Given the description of an element on the screen output the (x, y) to click on. 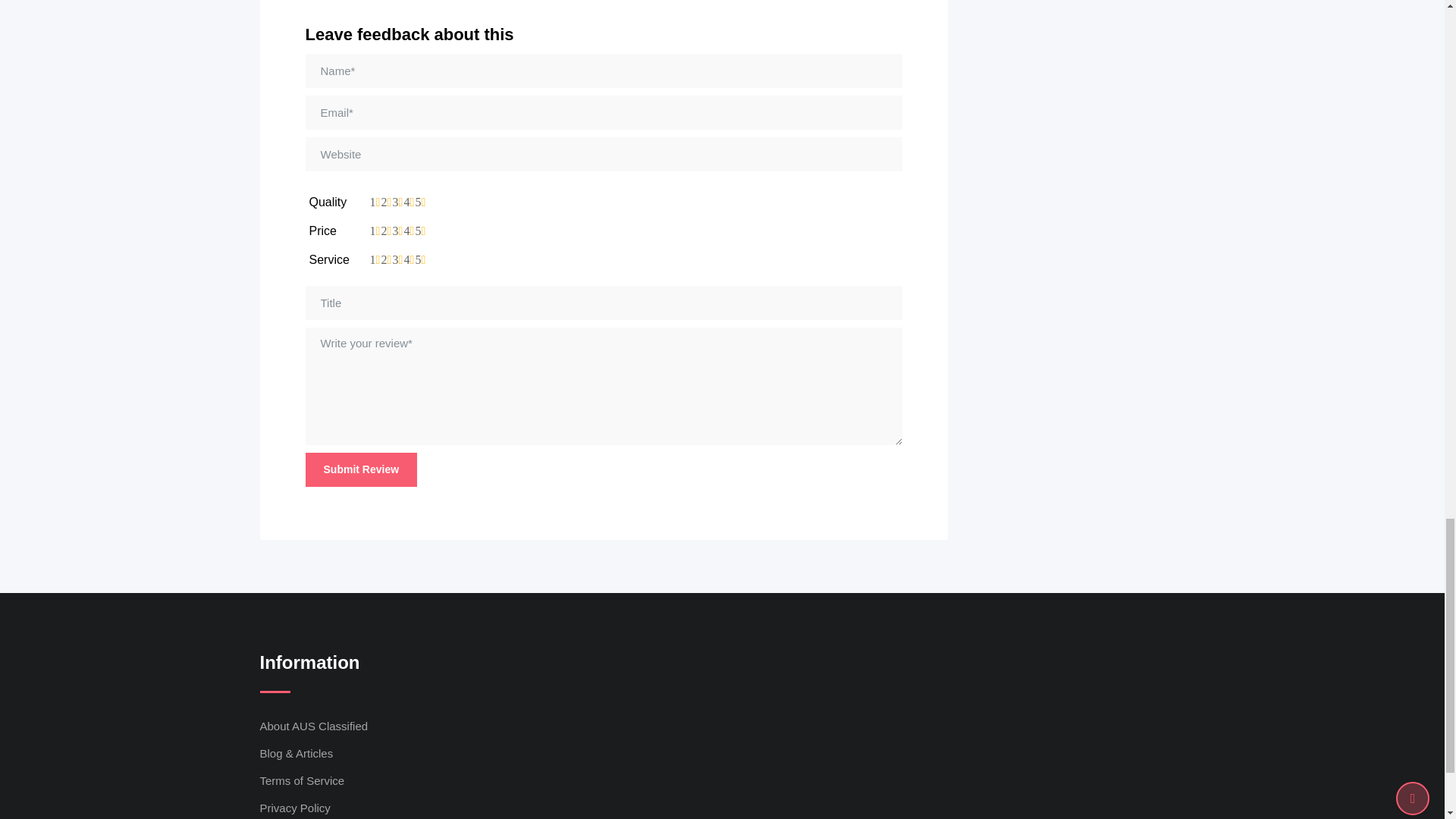
Submit Review (360, 469)
